Given the description of an element on the screen output the (x, y) to click on. 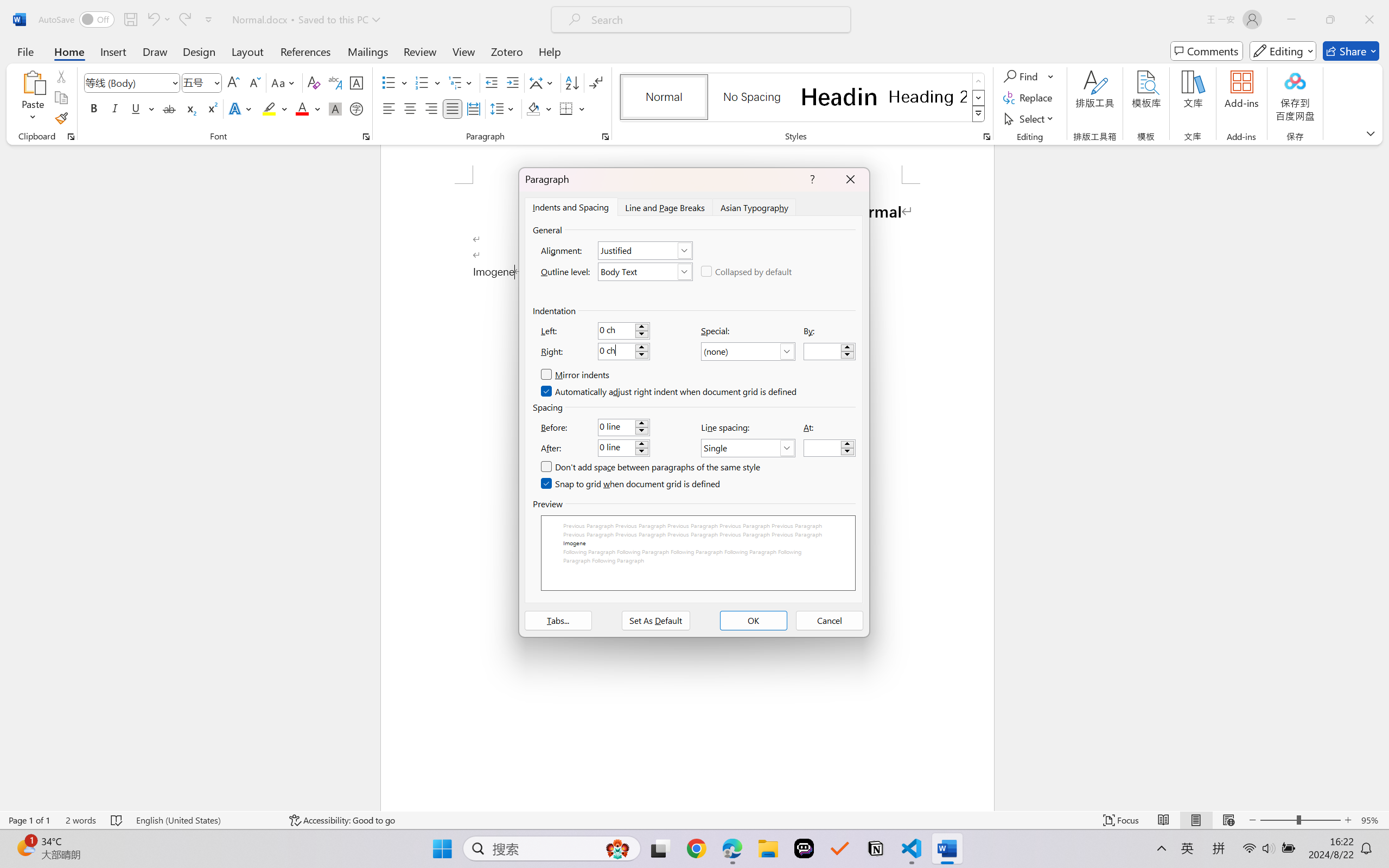
Row up (978, 81)
Bold (94, 108)
Don't add space between paragraphs of the same style (651, 466)
Shading (539, 108)
Distributed (473, 108)
Tabs... (558, 620)
